Given the description of an element on the screen output the (x, y) to click on. 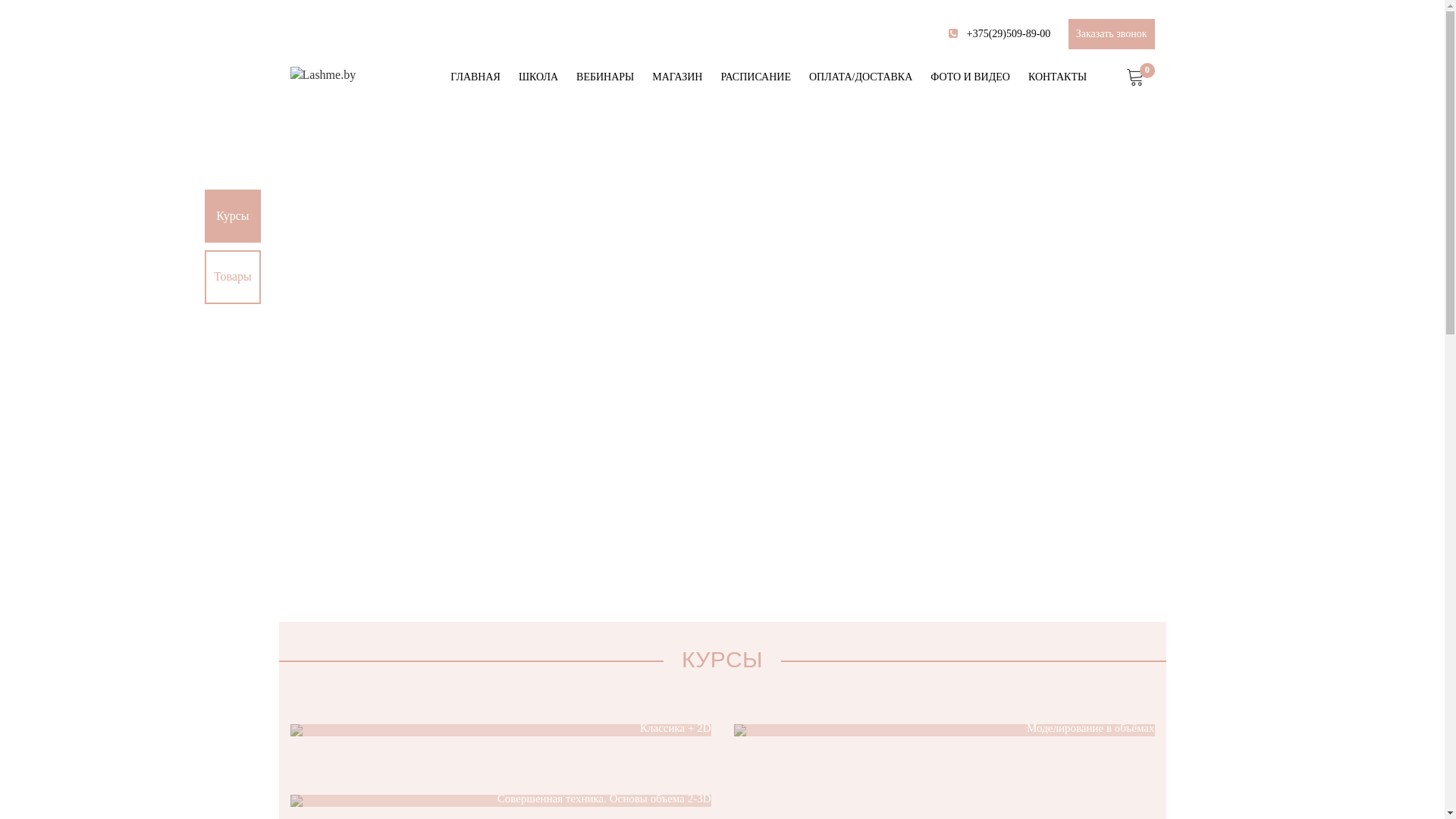
0 Element type: text (1135, 79)
+375(29)509-89-00 Element type: text (1006, 33)
